Given the description of an element on the screen output the (x, y) to click on. 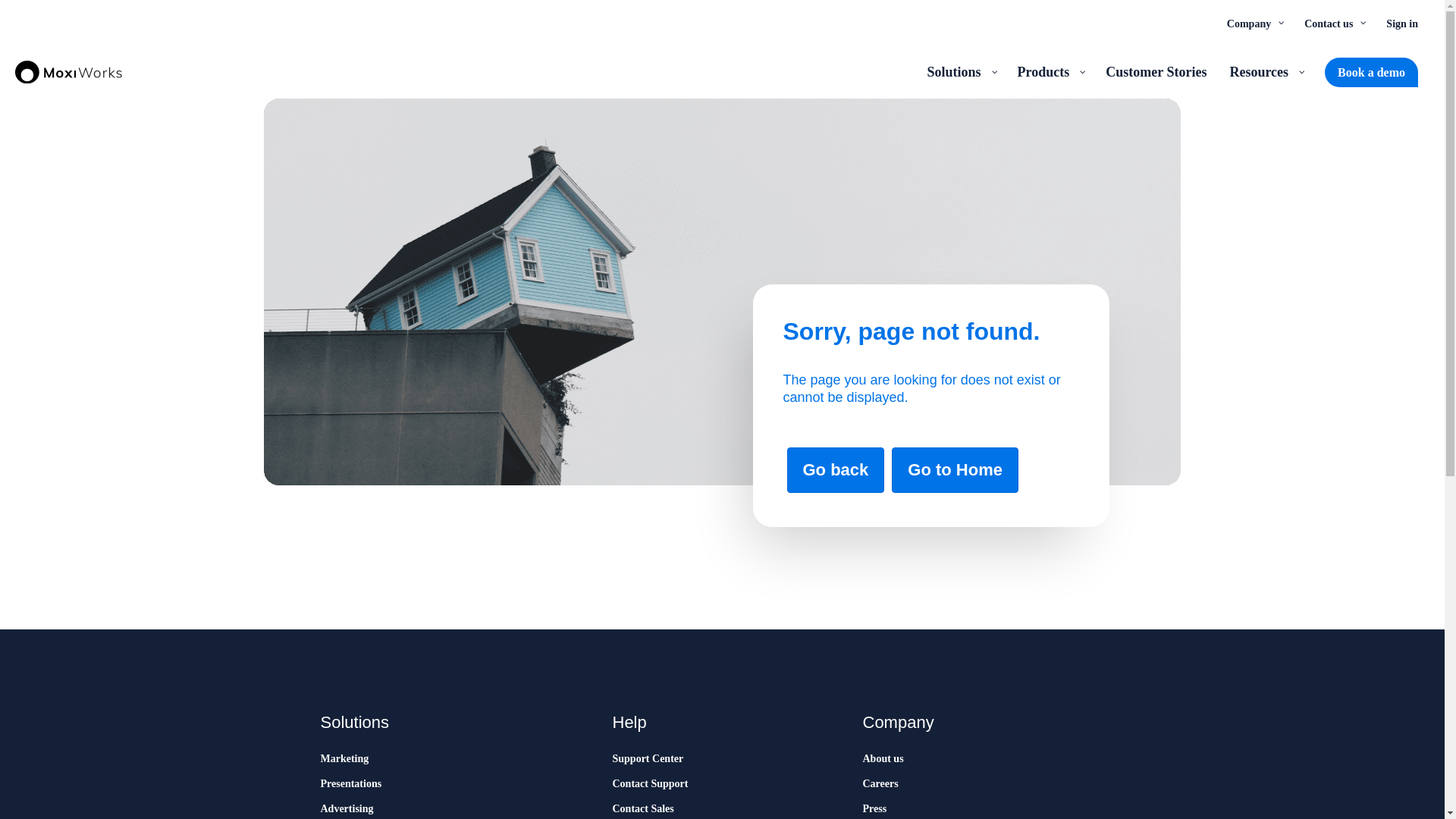
Products (1050, 72)
Sign in (1401, 22)
Contact us (1333, 22)
Company (1253, 22)
Solutions (960, 72)
